Given the description of an element on the screen output the (x, y) to click on. 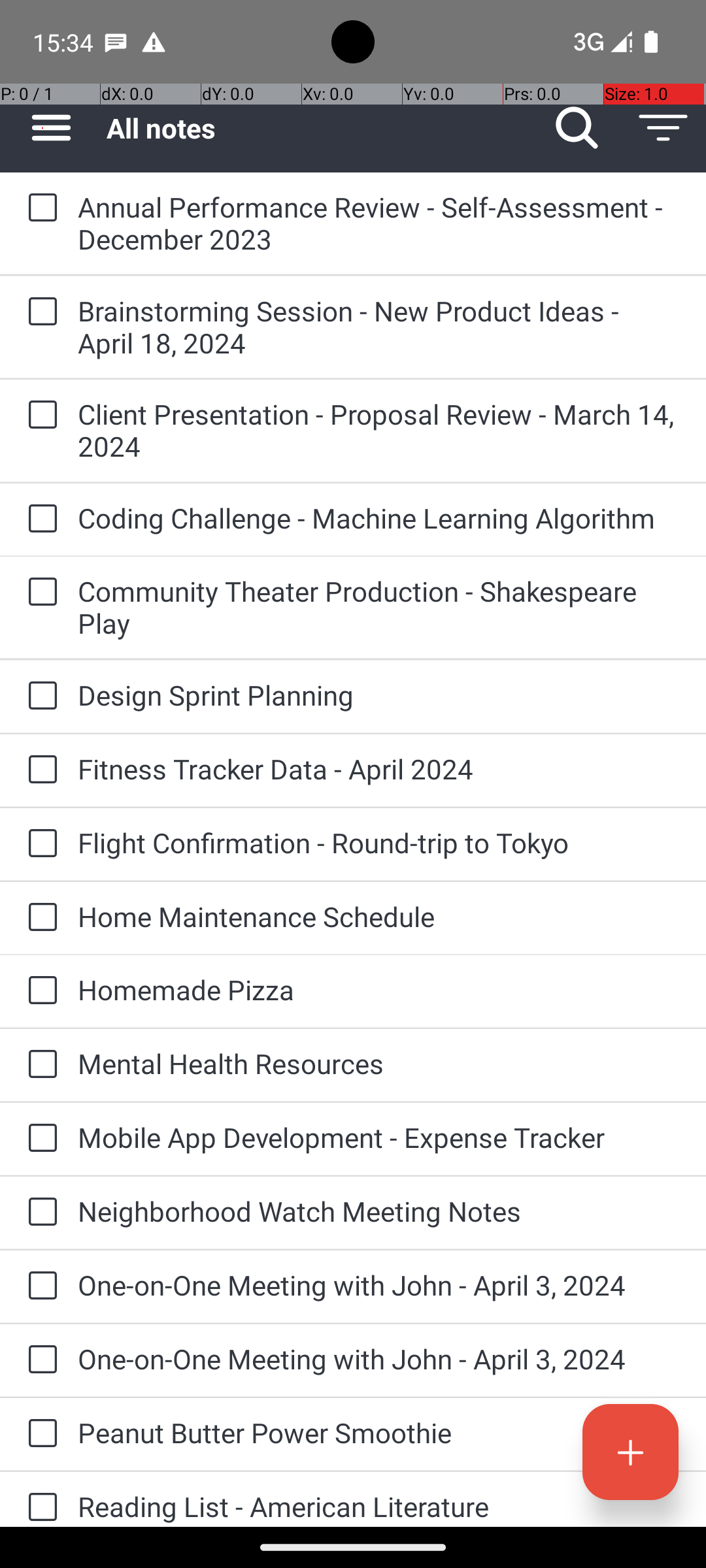
to-do: Annual Performance Review - Self-Assessment - December 2023 Element type: android.widget.CheckBox (38, 208)
Annual Performance Review - Self-Assessment - December 2023 Element type: android.widget.TextView (378, 222)
to-do: Brainstorming Session - New Product Ideas - April 18, 2024 Element type: android.widget.CheckBox (38, 312)
Brainstorming Session - New Product Ideas - April 18, 2024 Element type: android.widget.TextView (378, 326)
to-do: Client Presentation - Proposal Review - March 14, 2024 Element type: android.widget.CheckBox (38, 415)
Client Presentation - Proposal Review - March 14, 2024 Element type: android.widget.TextView (378, 429)
to-do: Coding Challenge - Machine Learning Algorithm Element type: android.widget.CheckBox (38, 519)
Coding Challenge - Machine Learning Algorithm Element type: android.widget.TextView (378, 517)
to-do: Community Theater Production - Shakespeare Play Element type: android.widget.CheckBox (38, 592)
Community Theater Production - Shakespeare Play Element type: android.widget.TextView (378, 606)
to-do: Design Sprint Planning Element type: android.widget.CheckBox (38, 696)
Design Sprint Planning Element type: android.widget.TextView (378, 694)
to-do: Fitness Tracker Data - April 2024 Element type: android.widget.CheckBox (38, 770)
Fitness Tracker Data - April 2024 Element type: android.widget.TextView (378, 768)
to-do: Flight Confirmation - Round-trip to Tokyo Element type: android.widget.CheckBox (38, 844)
Flight Confirmation - Round-trip to Tokyo Element type: android.widget.TextView (378, 842)
to-do: Home Maintenance Schedule Element type: android.widget.CheckBox (38, 917)
Home Maintenance Schedule Element type: android.widget.TextView (378, 915)
to-do: Homemade Pizza Element type: android.widget.CheckBox (38, 991)
Homemade Pizza Element type: android.widget.TextView (378, 989)
to-do: Mental Health Resources Element type: android.widget.CheckBox (38, 1065)
Mental Health Resources Element type: android.widget.TextView (378, 1062)
to-do: Mobile App Development - Expense Tracker Element type: android.widget.CheckBox (38, 1138)
Mobile App Development - Expense Tracker Element type: android.widget.TextView (378, 1136)
to-do: Neighborhood Watch Meeting Notes Element type: android.widget.CheckBox (38, 1212)
Neighborhood Watch Meeting Notes Element type: android.widget.TextView (378, 1210)
to-do: One-on-One Meeting with John - April 3, 2024 Element type: android.widget.CheckBox (38, 1286)
One-on-One Meeting with John - April 3, 2024 Element type: android.widget.TextView (378, 1284)
to-do: Peanut Butter Power Smoothie Element type: android.widget.CheckBox (38, 1434)
Peanut Butter Power Smoothie Element type: android.widget.TextView (378, 1432)
to-do: Reading List - American Literature Element type: android.widget.CheckBox (38, 1498)
Reading List - American Literature Element type: android.widget.TextView (378, 1505)
